Given the description of an element on the screen output the (x, y) to click on. 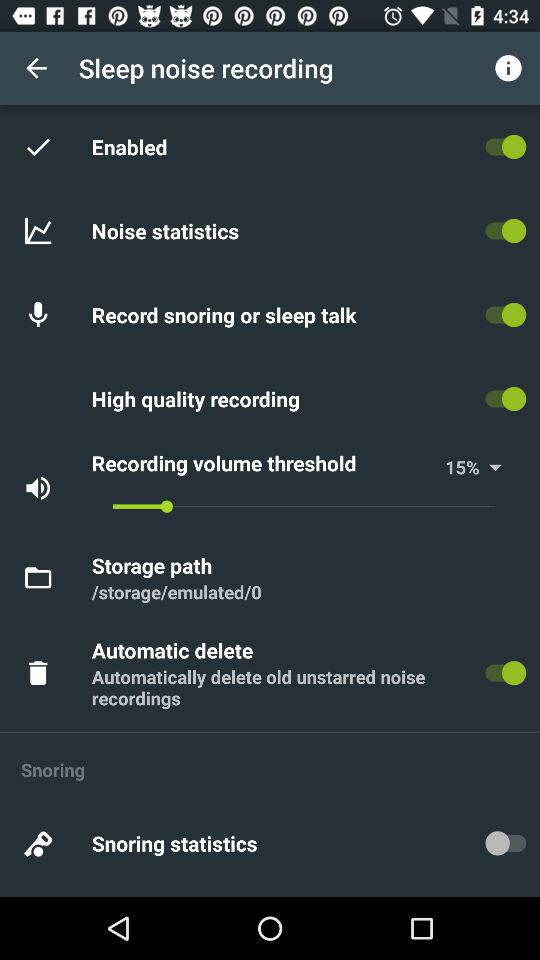
select item below noise statistics (227, 314)
